Given the description of an element on the screen output the (x, y) to click on. 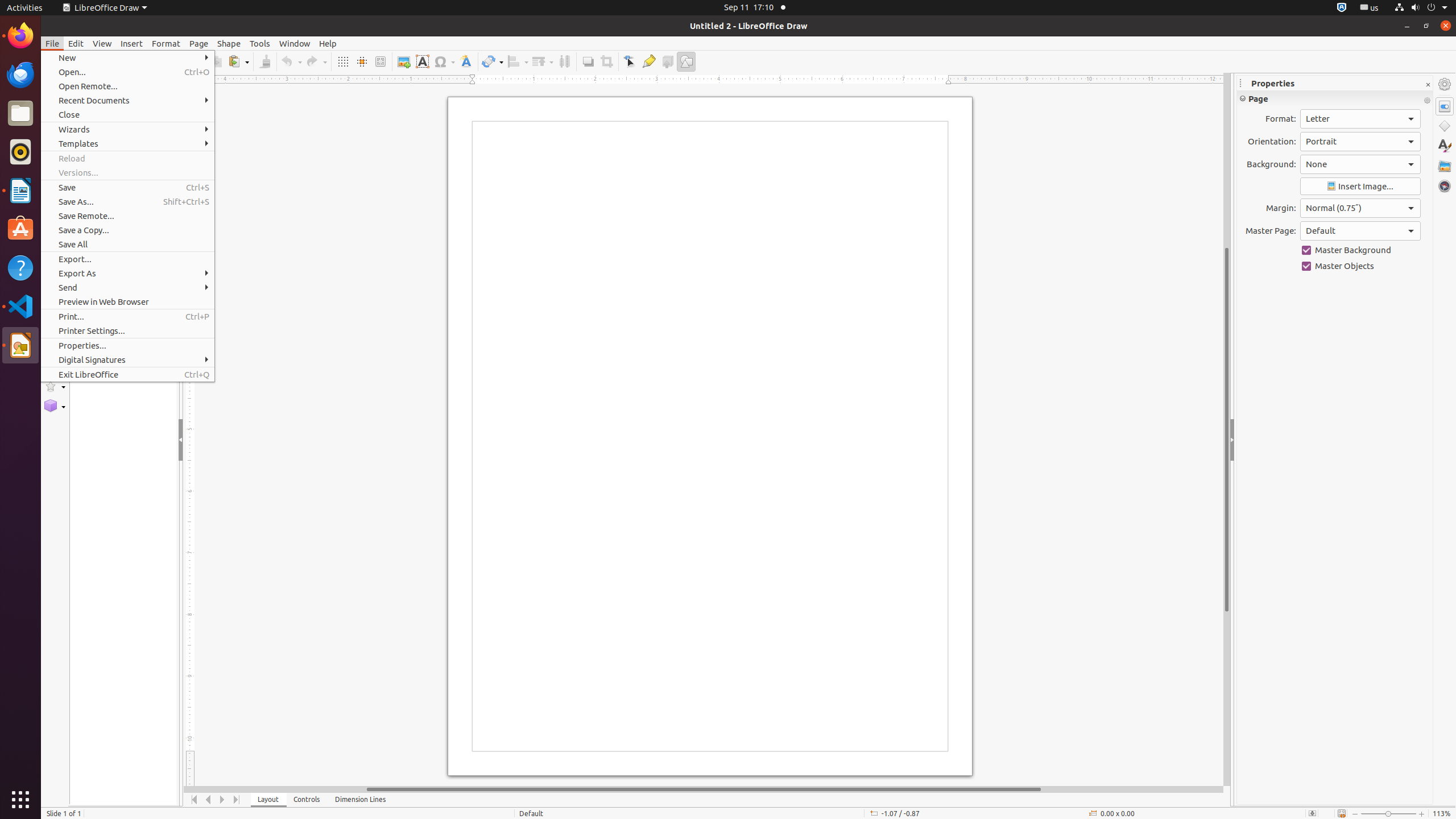
Shape Element type: menu (228, 43)
Insert Image Element type: push-button (1360, 186)
Symbol Element type: push-button (443, 61)
System Element type: menu (1420, 7)
Wizards Element type: menu (127, 129)
